Given the description of an element on the screen output the (x, y) to click on. 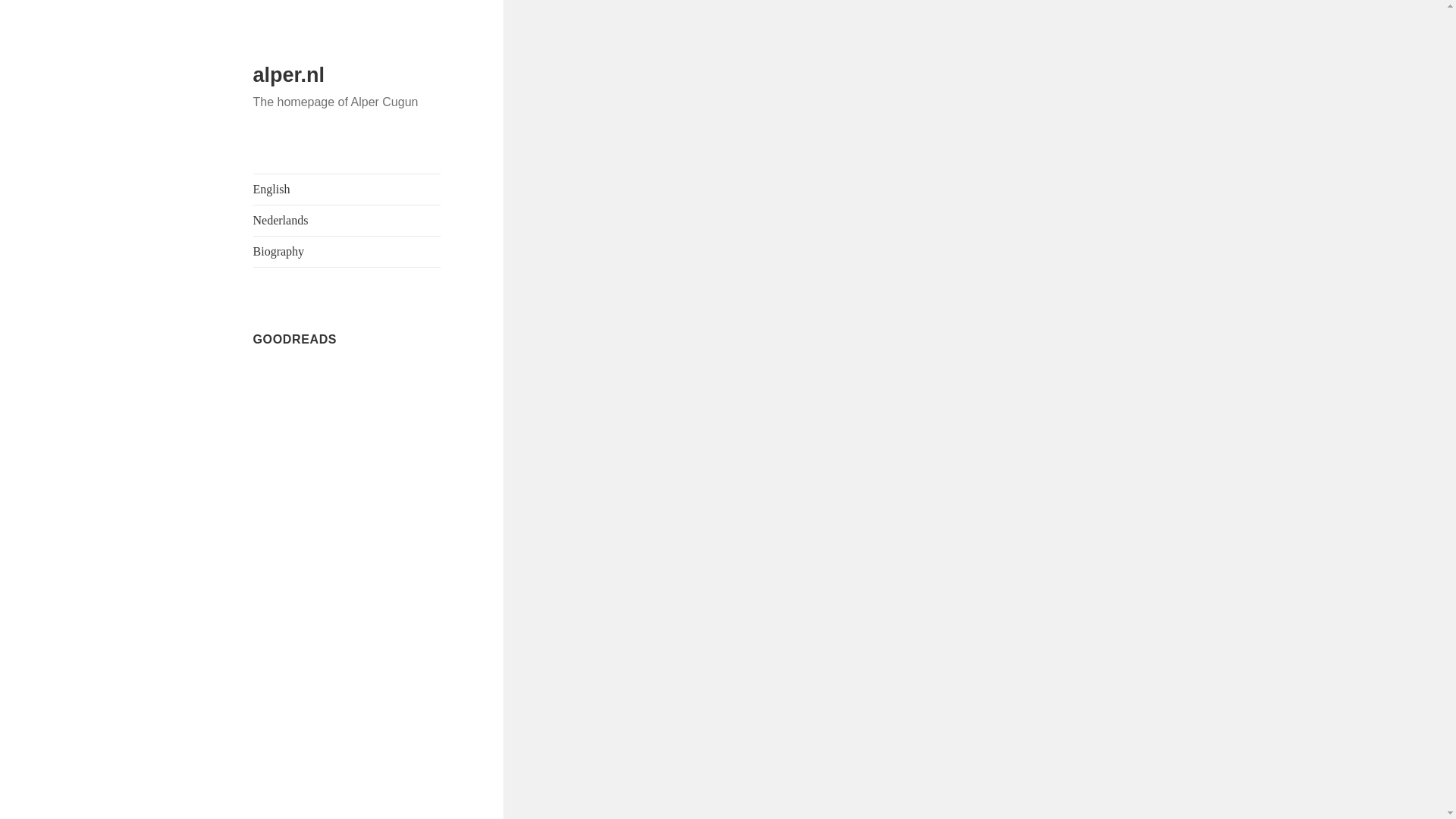
Biography (347, 251)
alper.nl (288, 74)
Nederlands (347, 220)
English (347, 189)
